Given the description of an element on the screen output the (x, y) to click on. 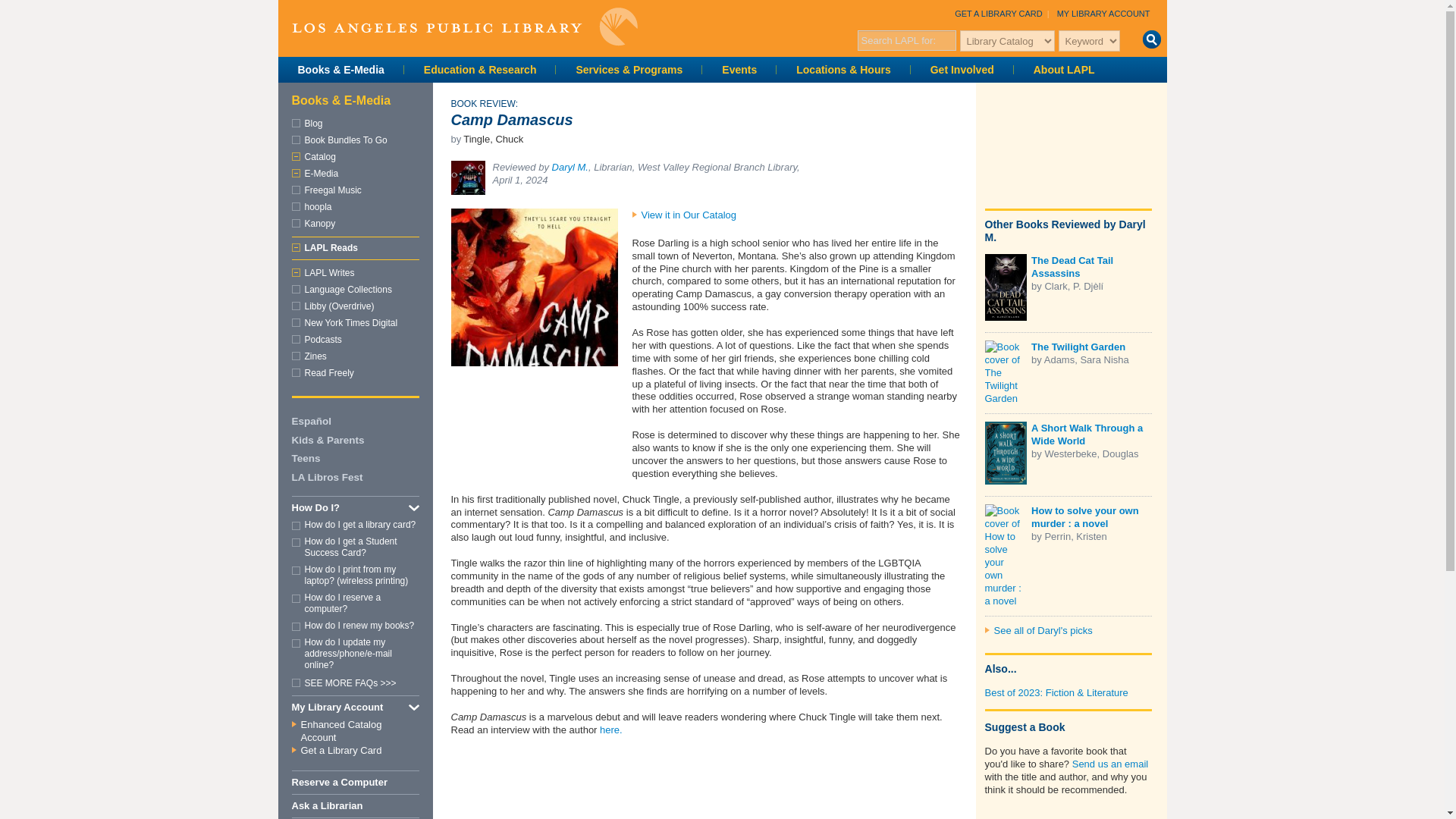
Find It (1150, 39)
Los Angeles Public Library (464, 26)
Find It (1150, 39)
Get a Library Card (998, 13)
My Library Account (1103, 13)
GET A LIBRARY CARD (998, 13)
Catalog (320, 156)
MY LIBRARY ACCOUNT (1103, 13)
Home (464, 26)
